Given the description of an element on the screen output the (x, y) to click on. 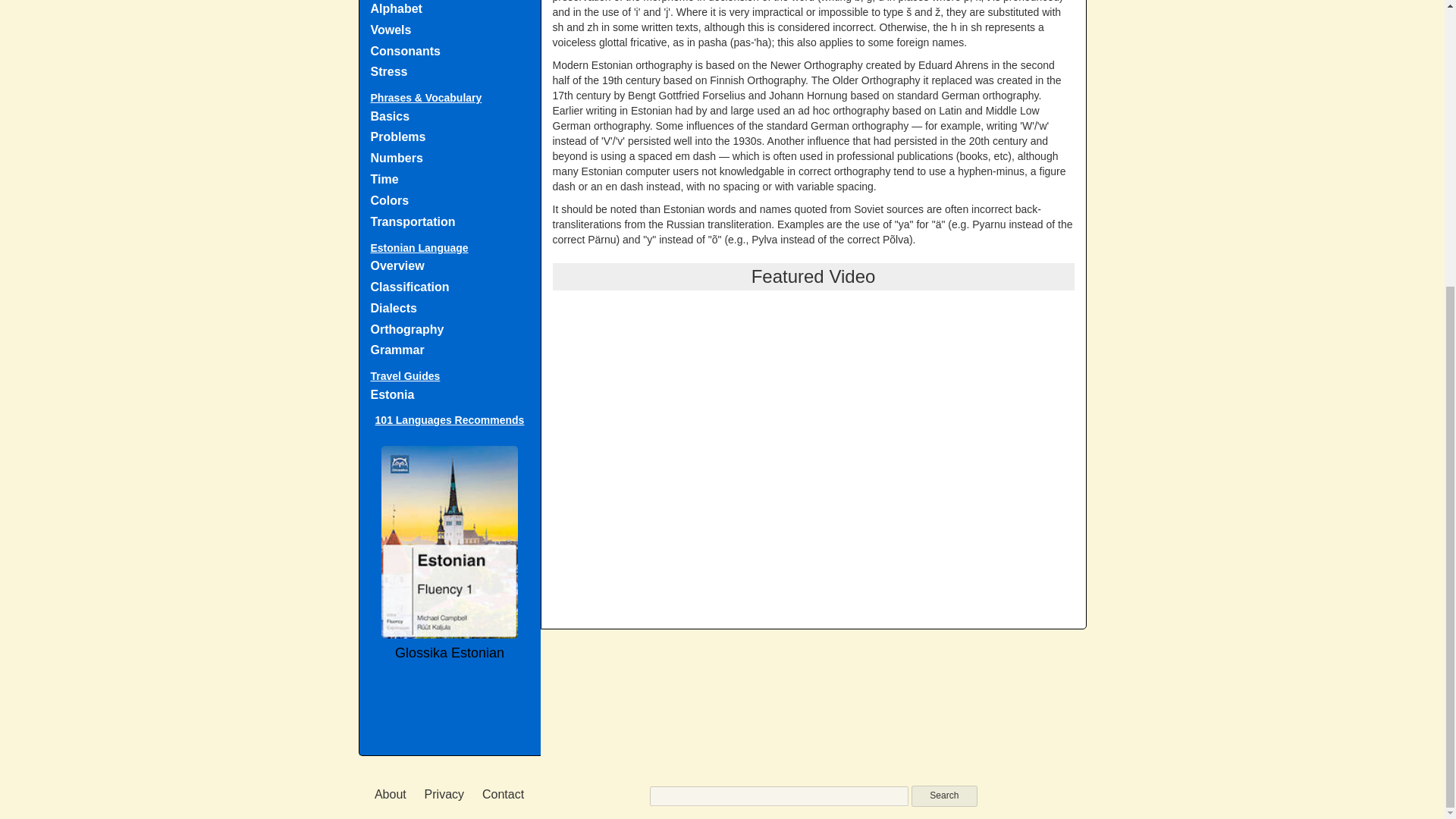
Search (943, 795)
